Given the description of an element on the screen output the (x, y) to click on. 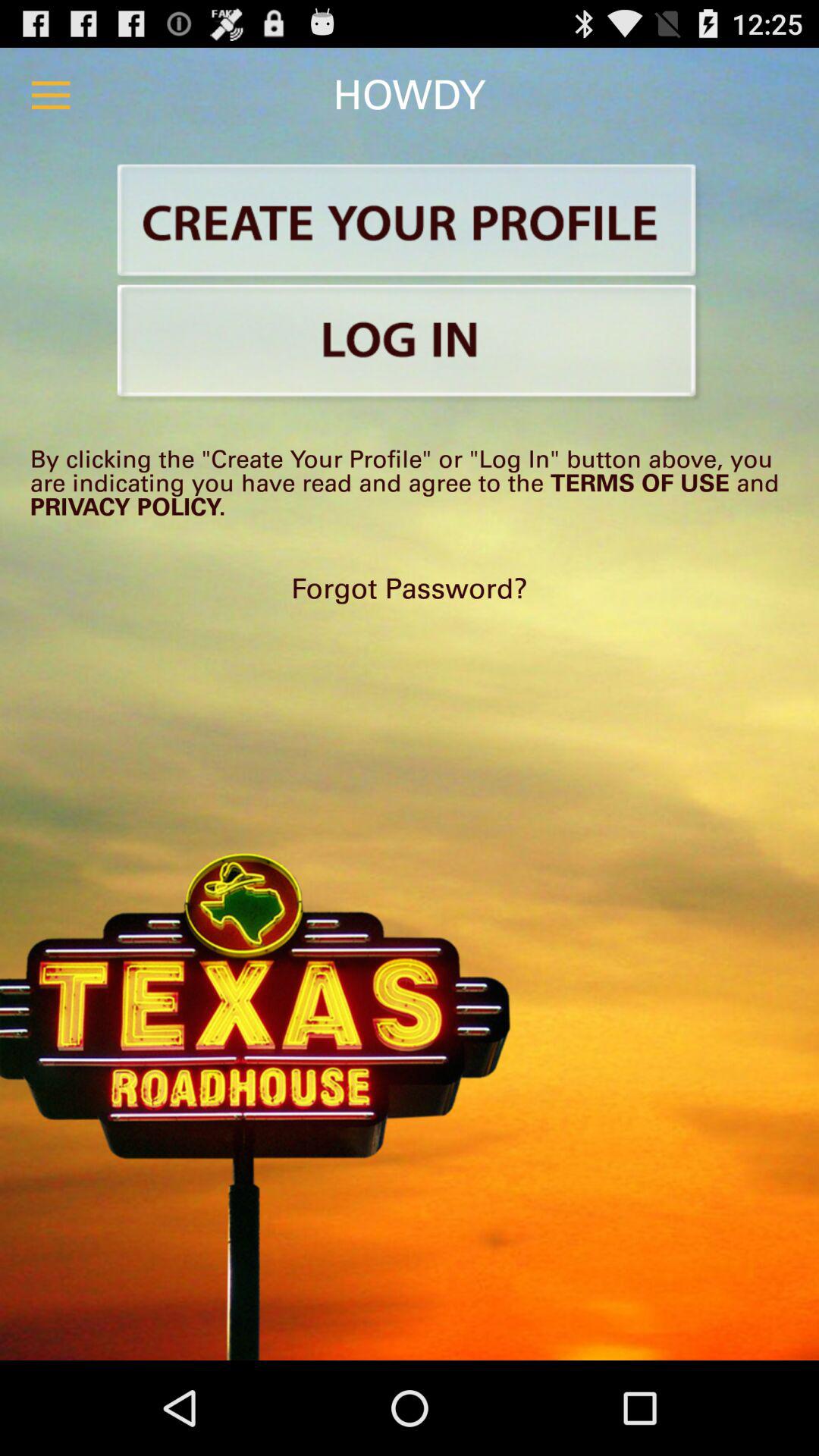
click app above by clicking the (409, 343)
